Given the description of an element on the screen output the (x, y) to click on. 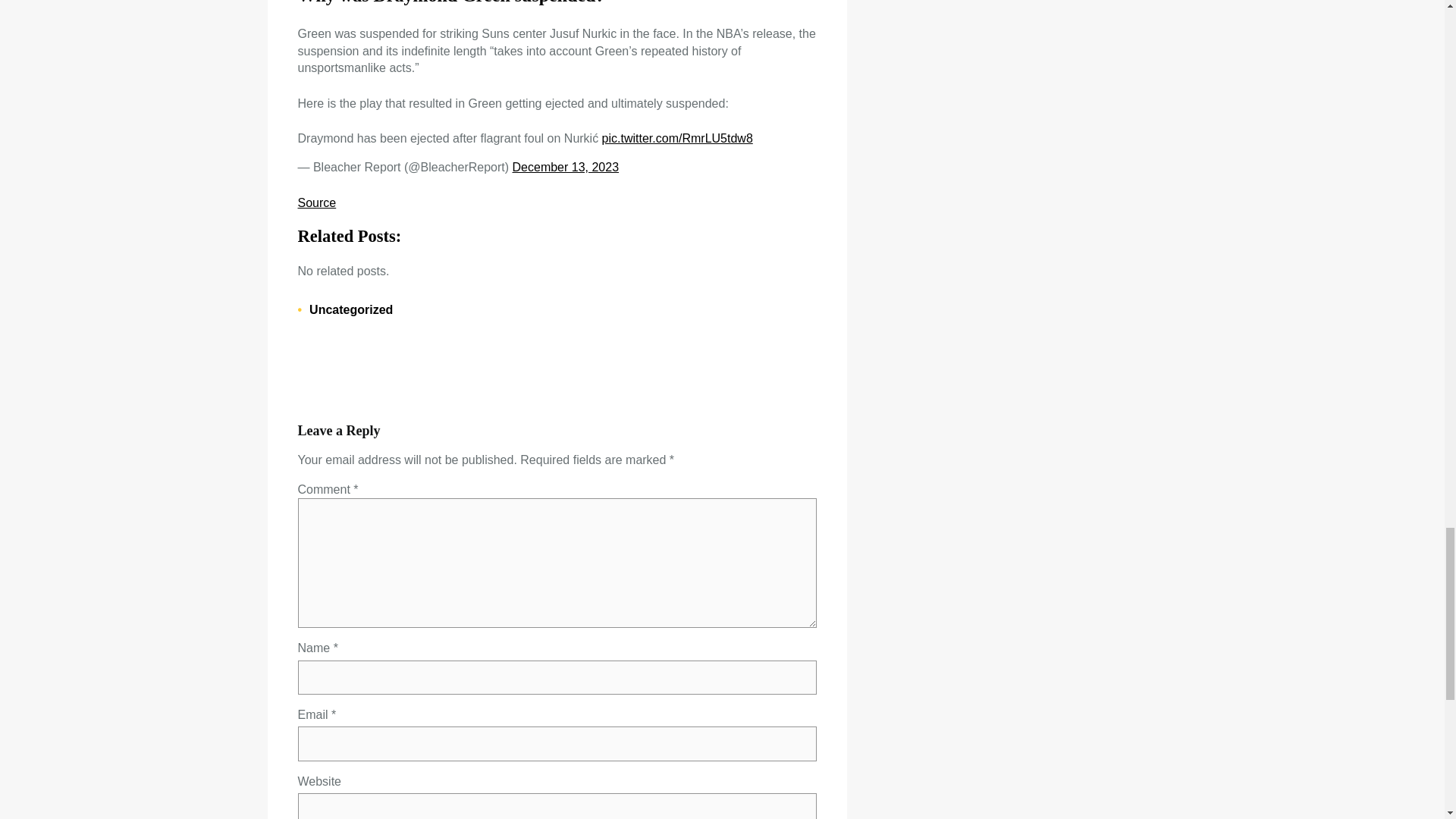
Uncategorized (350, 309)
December 13, 2023 (566, 166)
Source (316, 202)
